Given the description of an element on the screen output the (x, y) to click on. 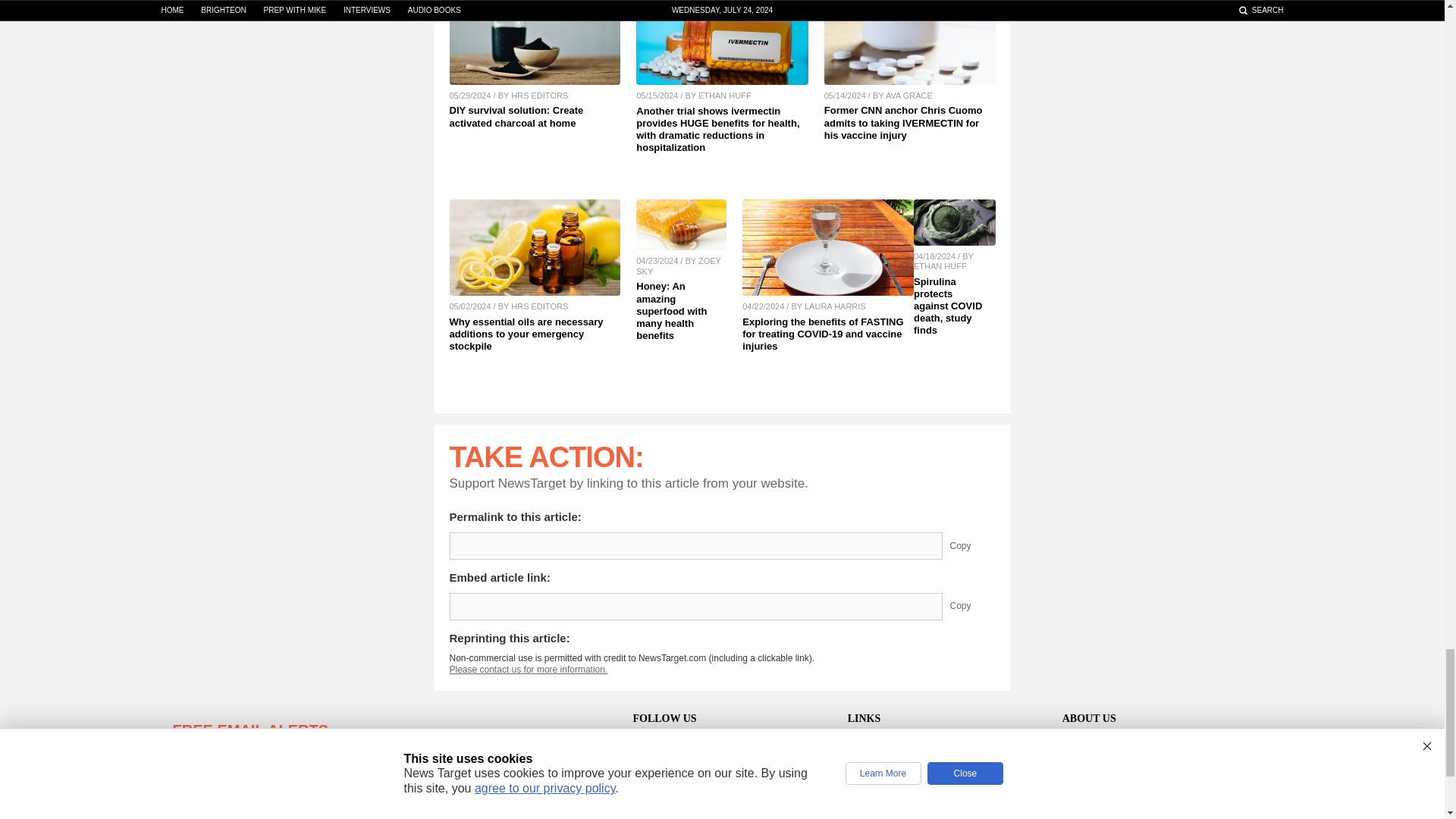
Copy Embed Link (971, 605)
Copy Permalink (971, 545)
Continue (459, 805)
